Given the description of an element on the screen output the (x, y) to click on. 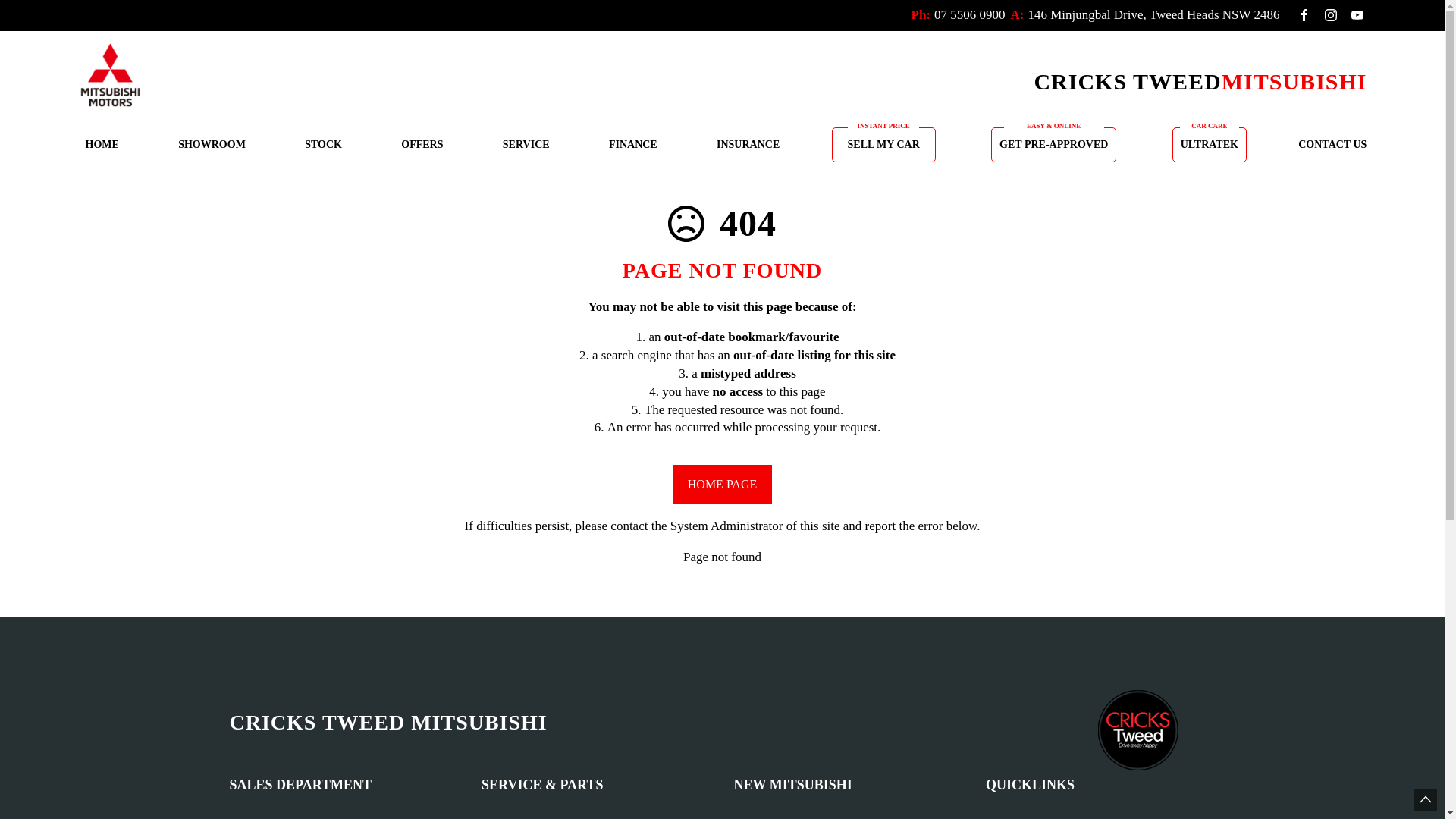
SELL MY CAR Element type: text (883, 144)
146 Minjungbal Drive, Tweed Heads NSW 2486 Element type: text (1154, 14)
GET PRE-APPROVED Element type: text (1053, 144)
CONTACT US Element type: text (1328, 144)
HOME Element type: text (101, 144)
STOCK Element type: text (323, 144)
SHOWROOM Element type: text (211, 144)
FINANCE Element type: text (633, 144)
HOME PAGE Element type: text (721, 484)
ULTRATEK Element type: text (1209, 144)
07 5506 0900 Element type: text (969, 14)
SERVICE Element type: text (526, 144)
OFFERS Element type: text (421, 144)
INSURANCE Element type: text (748, 144)
